Given the description of an element on the screen output the (x, y) to click on. 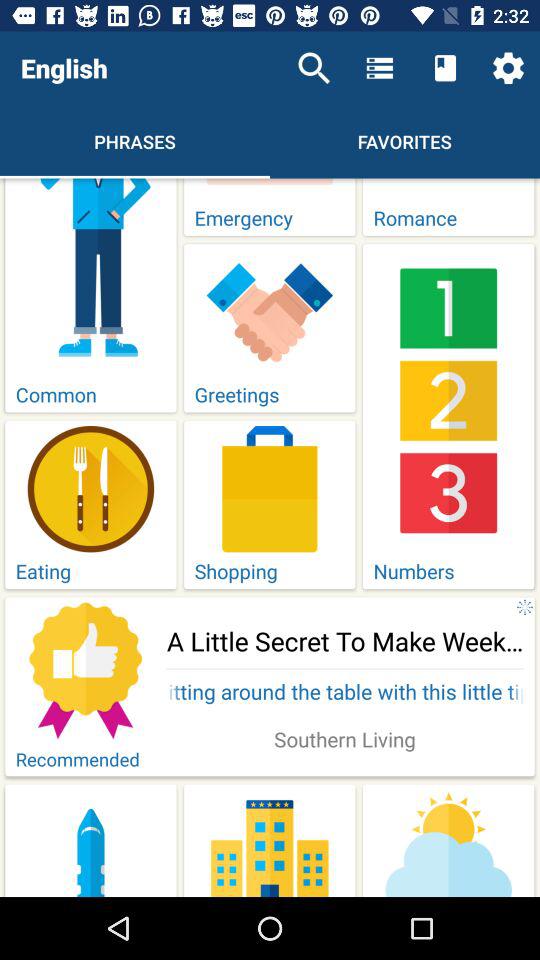
turn on icon to the right of the english icon (313, 67)
